Given the description of an element on the screen output the (x, y) to click on. 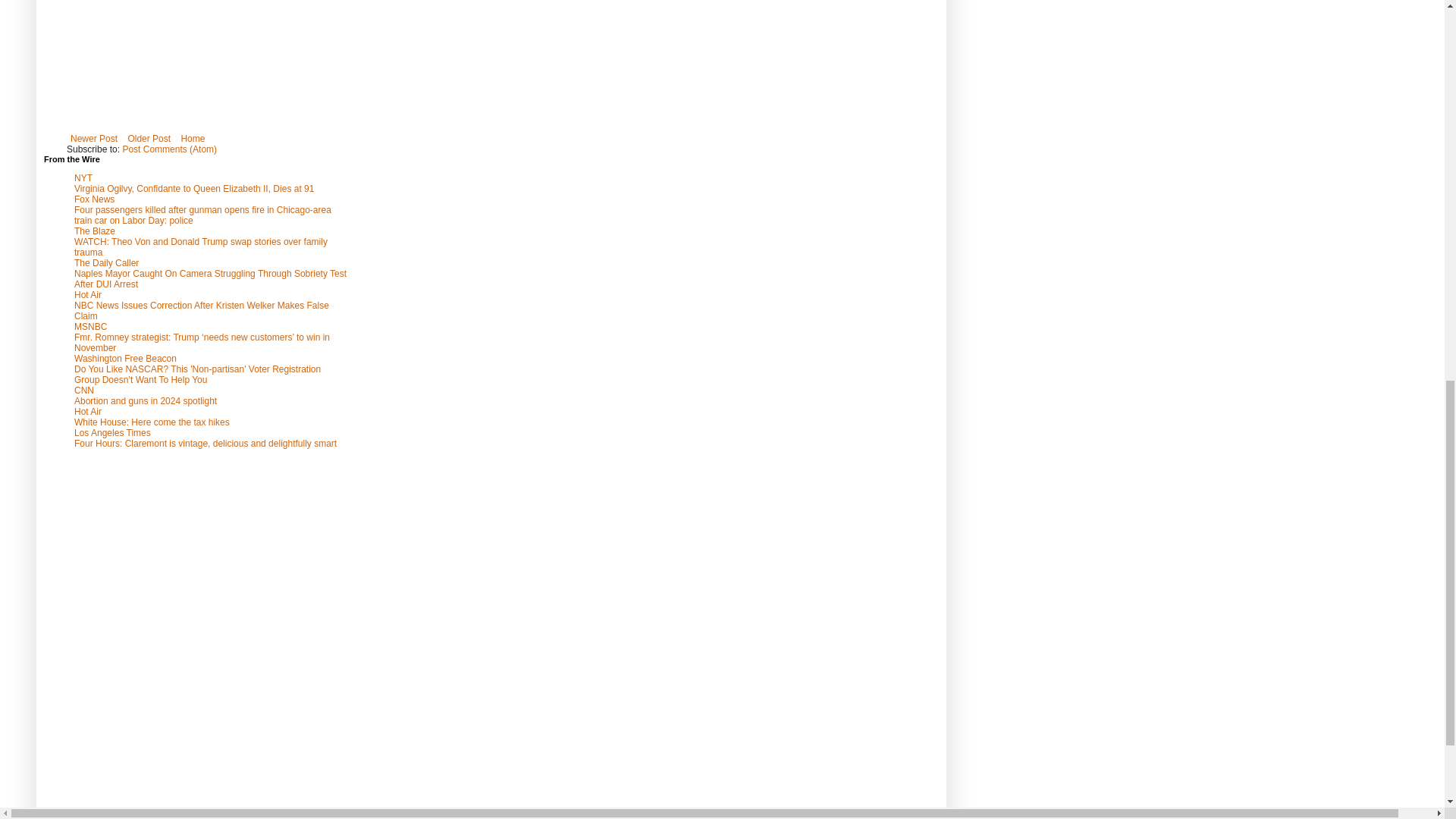
Home (192, 138)
Older Post (148, 138)
MSNBC (90, 326)
Hot Air (87, 294)
Newer Post (93, 138)
